Given the description of an element on the screen output the (x, y) to click on. 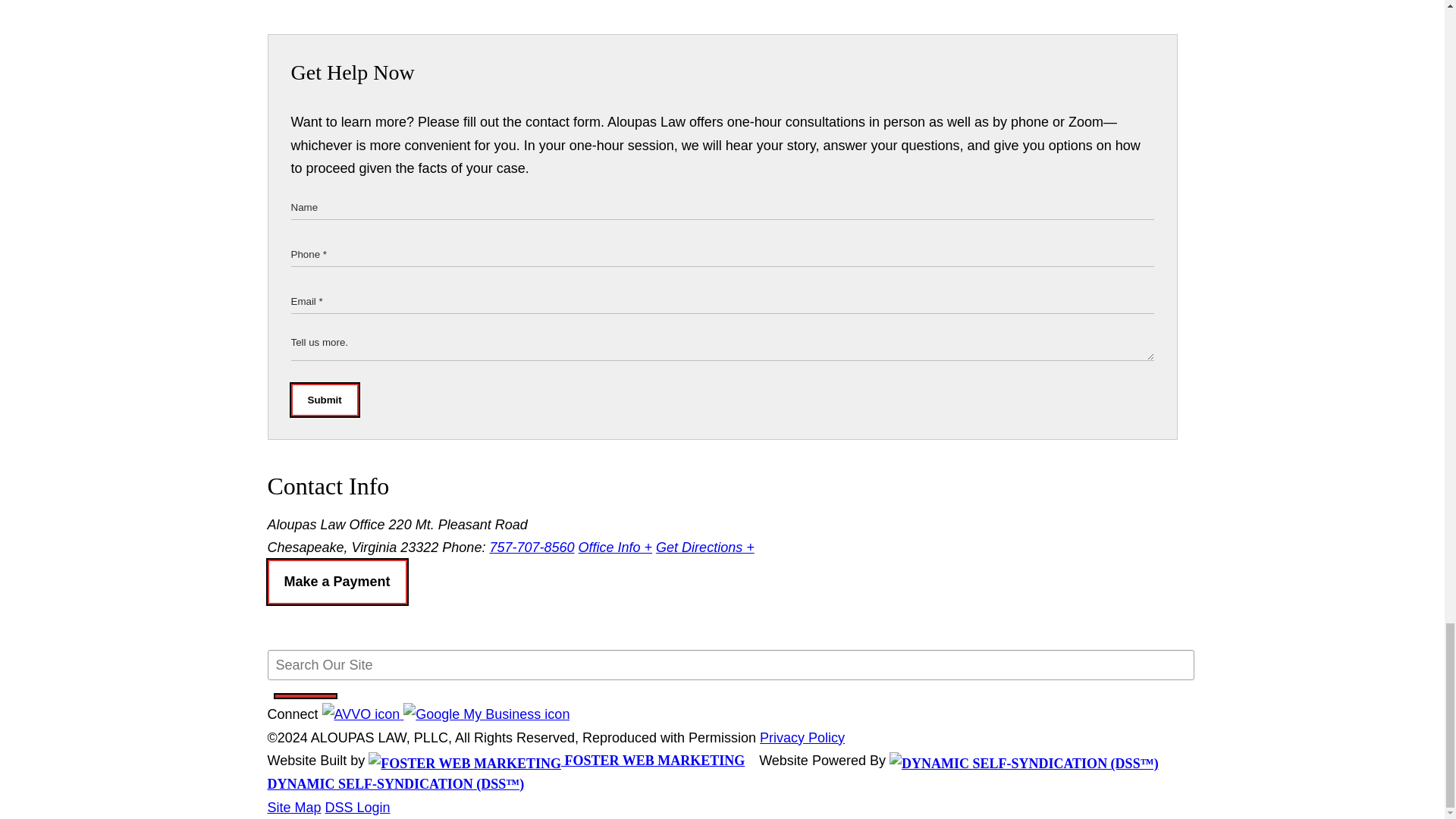
Privacy Policy (802, 737)
Search (304, 695)
FOSTER WEB MARKETING (556, 760)
Site Map (293, 807)
Make a Payment (336, 581)
757-707-8560 (531, 547)
Submit (324, 400)
